Given the description of an element on the screen output the (x, y) to click on. 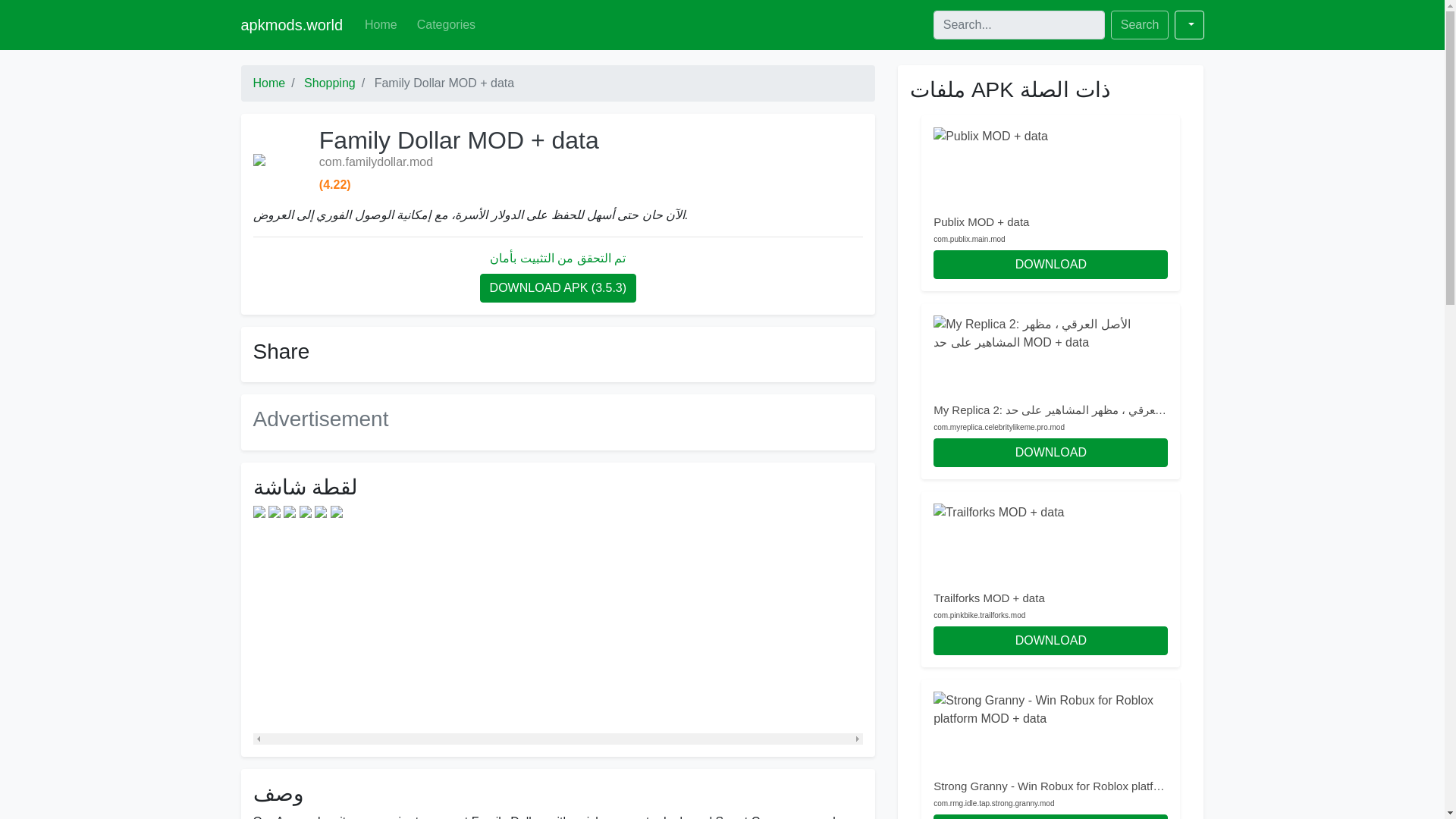
apkmods.world (292, 24)
Home (380, 24)
Categories (445, 24)
Home (269, 82)
Shopping (329, 82)
Search (1139, 24)
